Given the description of an element on the screen output the (x, y) to click on. 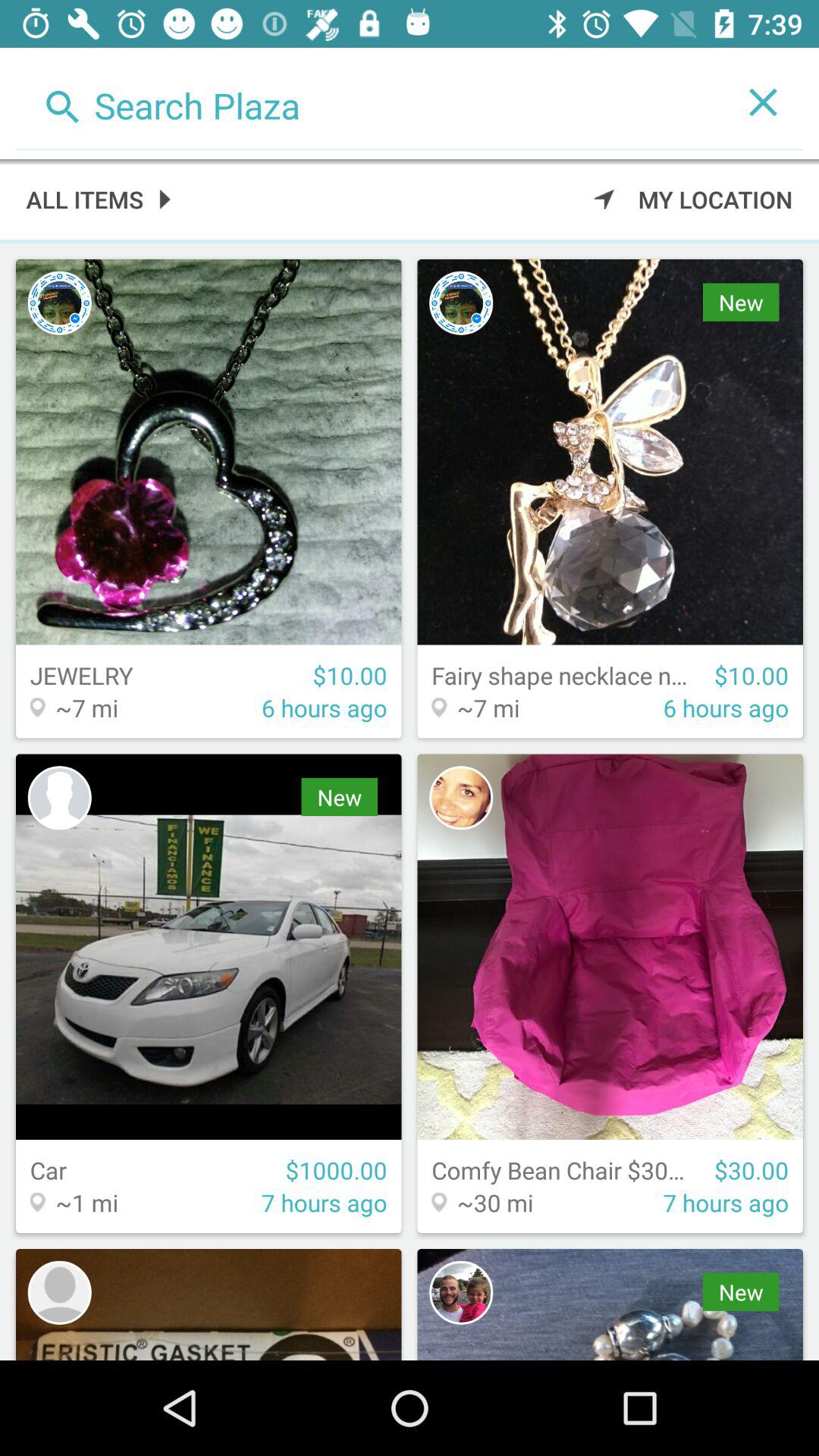
select option (369, 102)
